Given the description of an element on the screen output the (x, y) to click on. 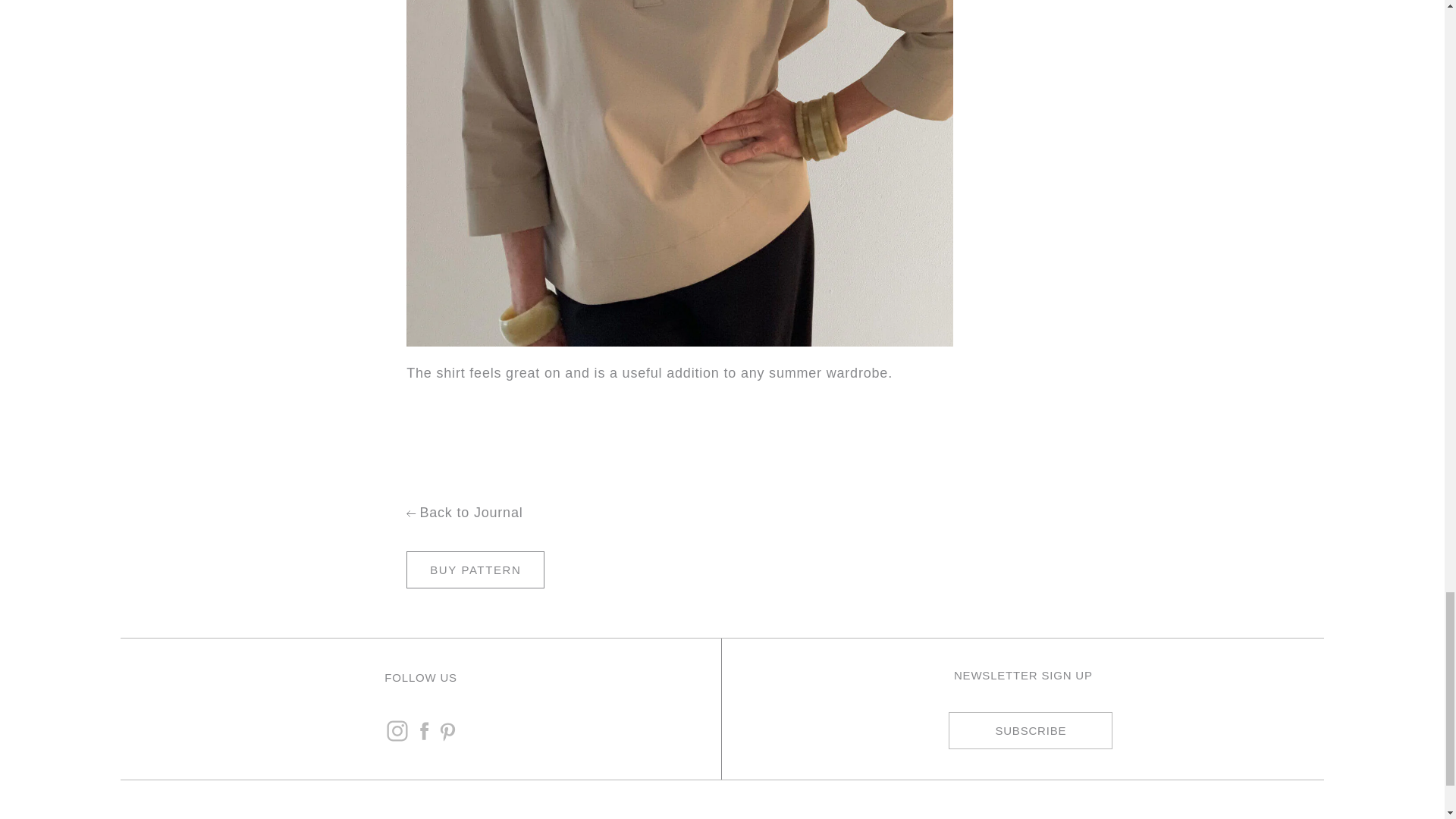
Back to Journal (679, 512)
SUBSCRIBE (1030, 730)
BUY PATTERN (475, 569)
